Given the description of an element on the screen output the (x, y) to click on. 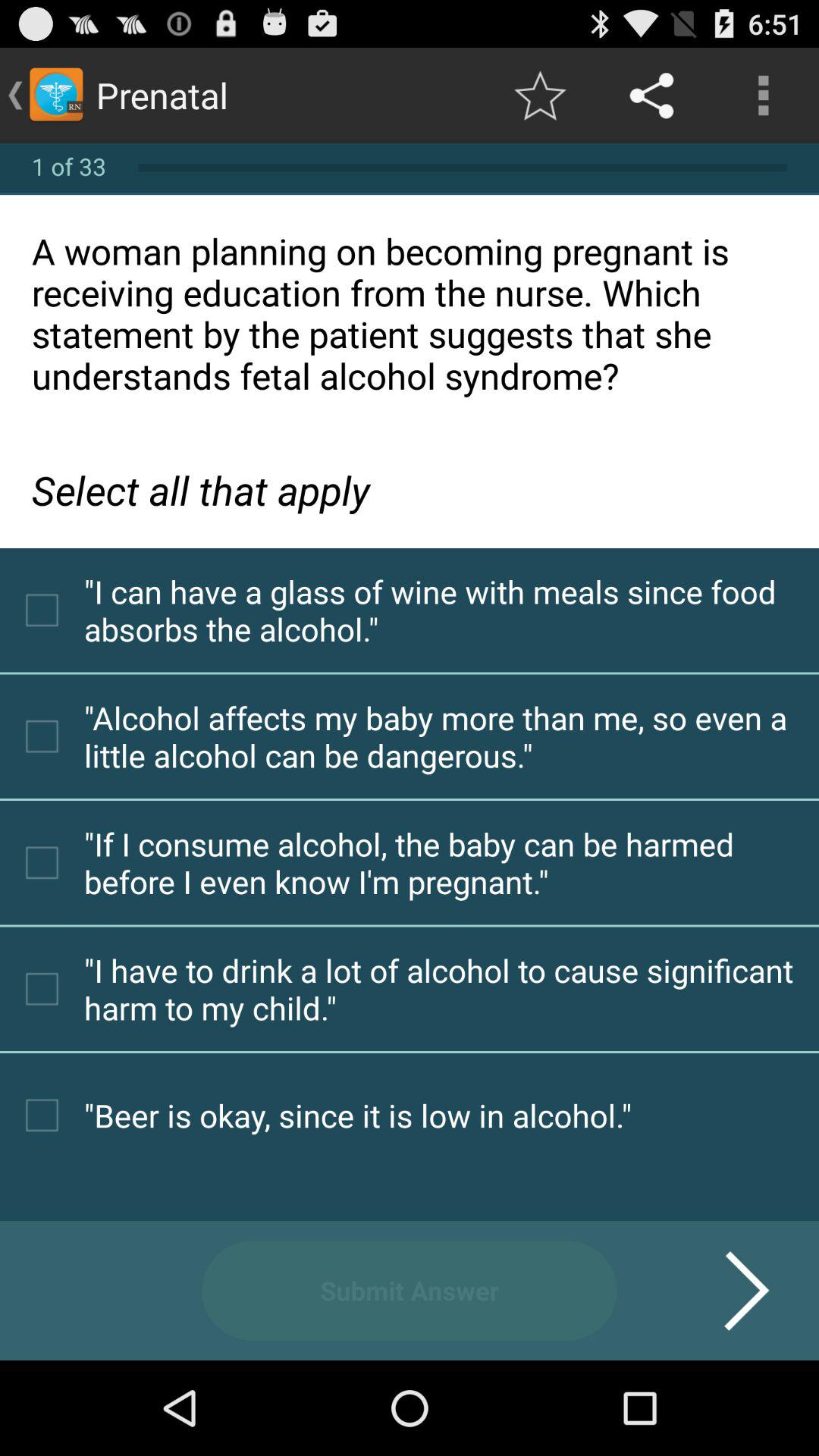
click the item at the bottom right corner (728, 1290)
